Given the description of an element on the screen output the (x, y) to click on. 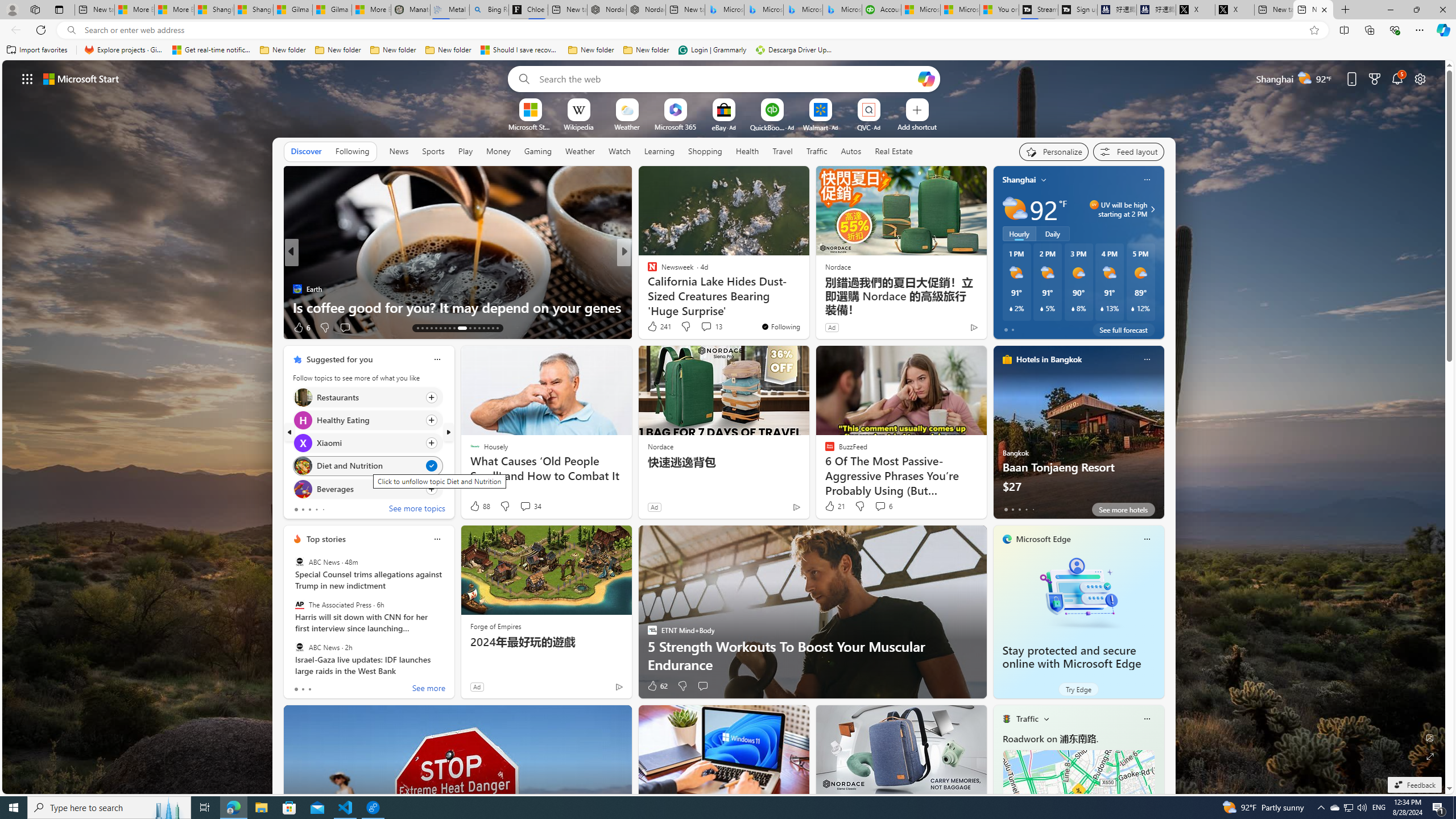
View comments 102 Comment (6, 327)
tab-0 (295, 689)
Bing Real Estate - Home sales and rental listings (488, 9)
Class: icon-img (1146, 718)
Watch (619, 151)
Nordace - #1 Japanese Best-Seller - Siena Smart Backpack (646, 9)
Microsoft rewards (1374, 78)
Sports (432, 151)
tab-4 (1032, 509)
News (398, 151)
Forge of Empires (495, 625)
